Given the description of an element on the screen output the (x, y) to click on. 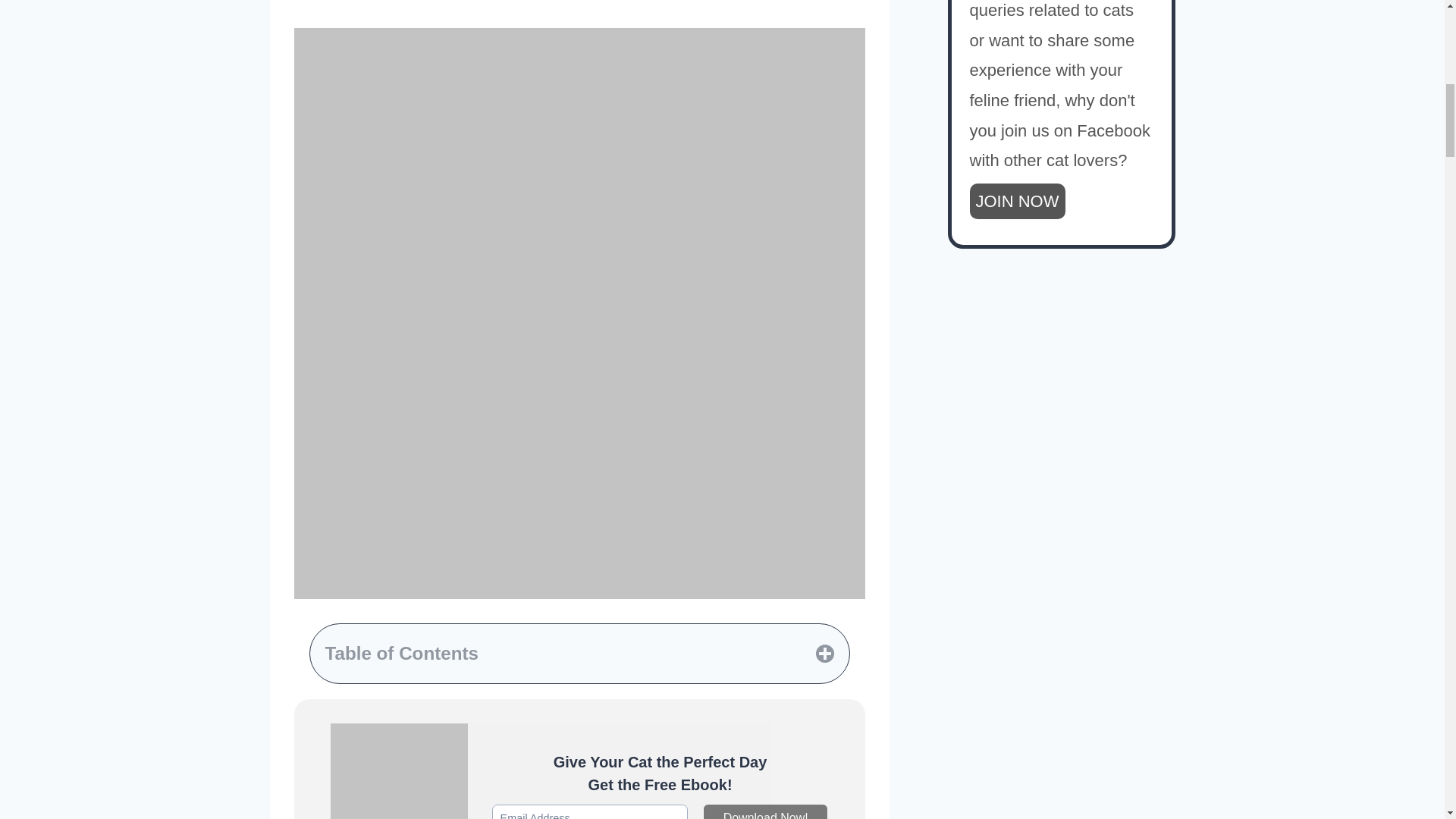
Table of Contents (578, 654)
Can Cats Eat Lobsters? Is Lobster Safe For Cats? (398, 771)
